Given the description of an element on the screen output the (x, y) to click on. 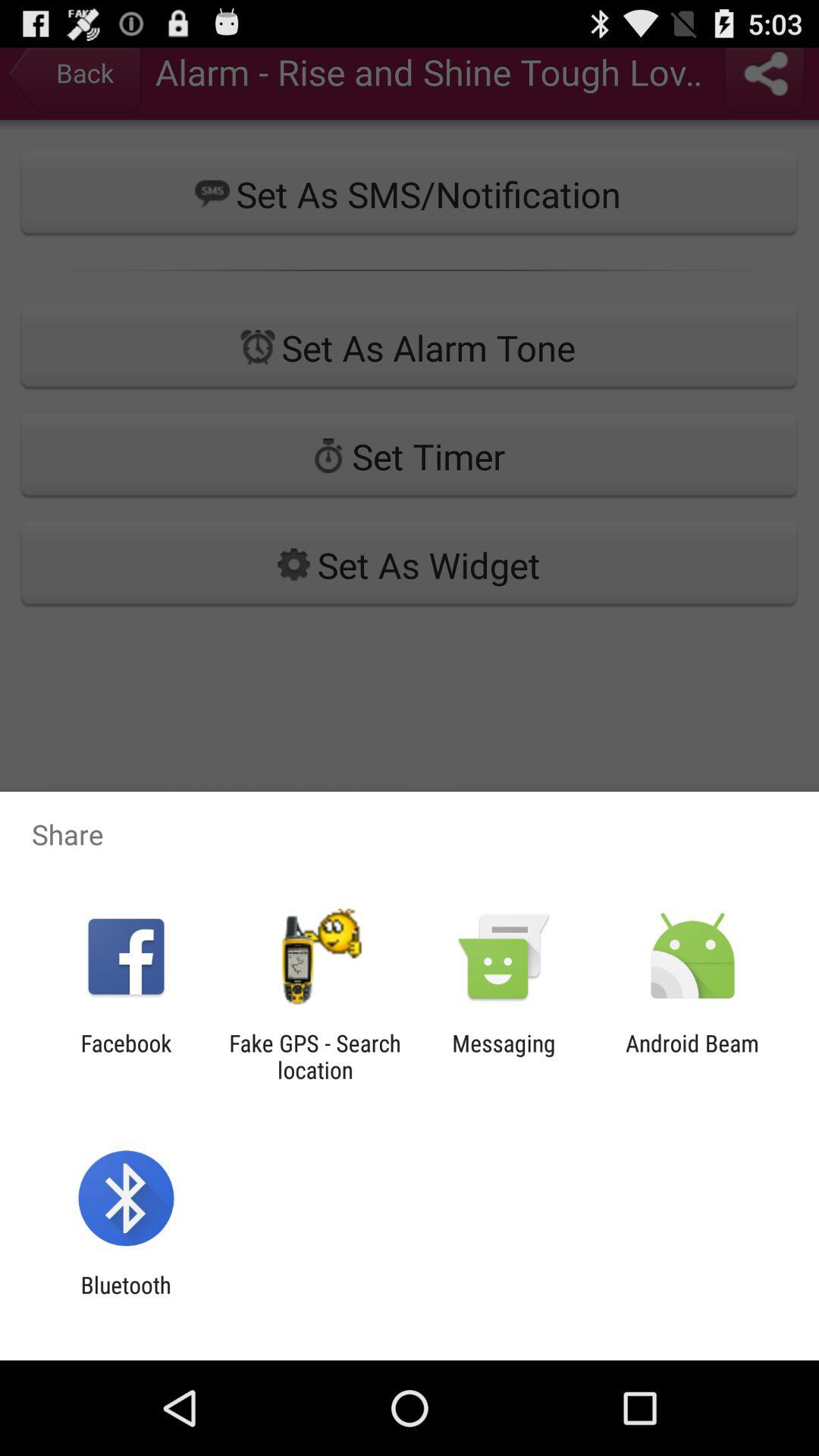
launch the app next to fake gps search icon (503, 1056)
